Given the description of an element on the screen output the (x, y) to click on. 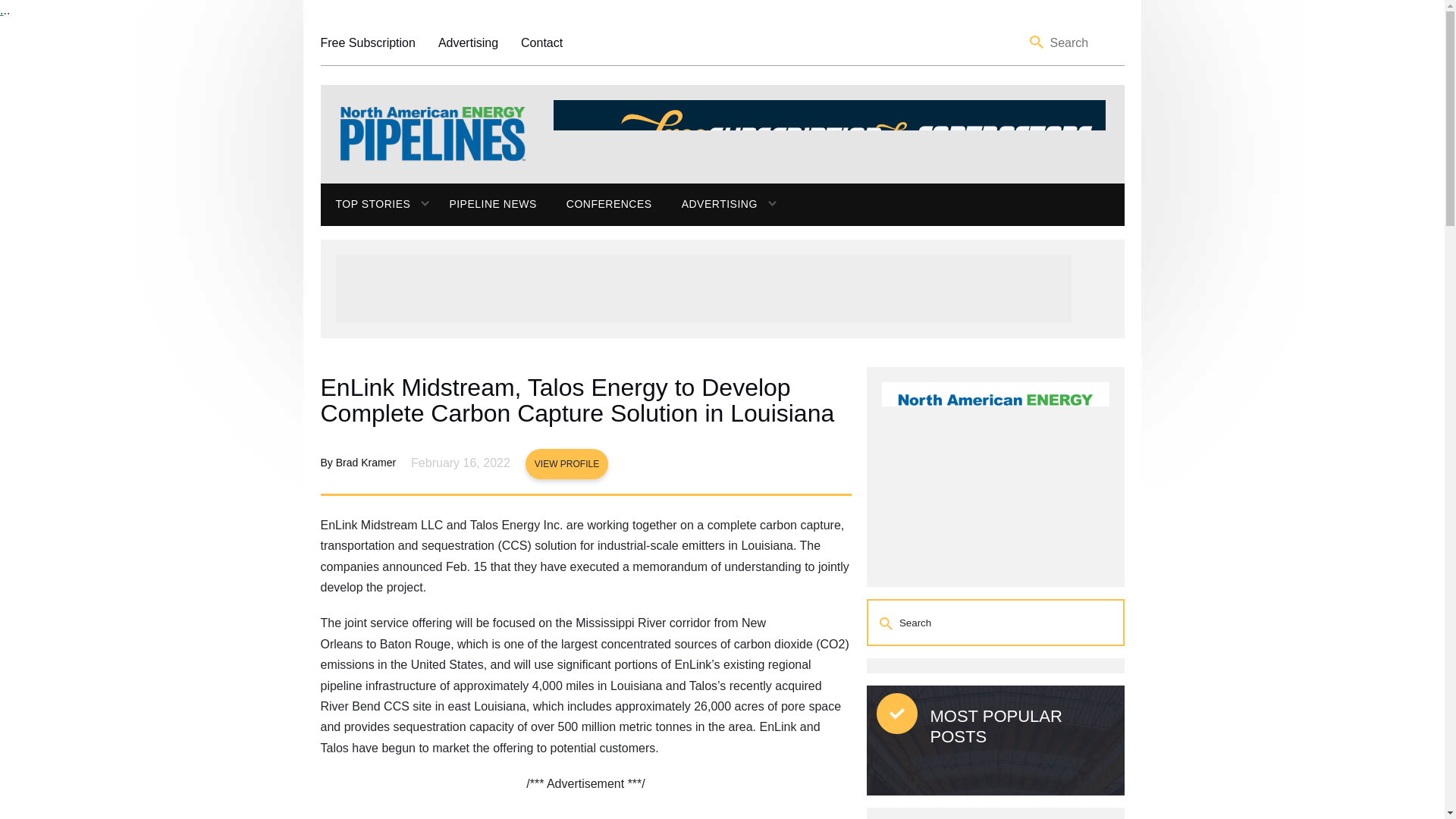
Advertising (467, 42)
PIPELINE NEWS (491, 204)
ADVERTISING (711, 204)
Search (887, 622)
Search (1037, 43)
Free Magazine Subscription (367, 42)
VIEW PROFILE (566, 463)
Contact (541, 42)
Free Subscription (367, 42)
